Given the description of an element on the screen output the (x, y) to click on. 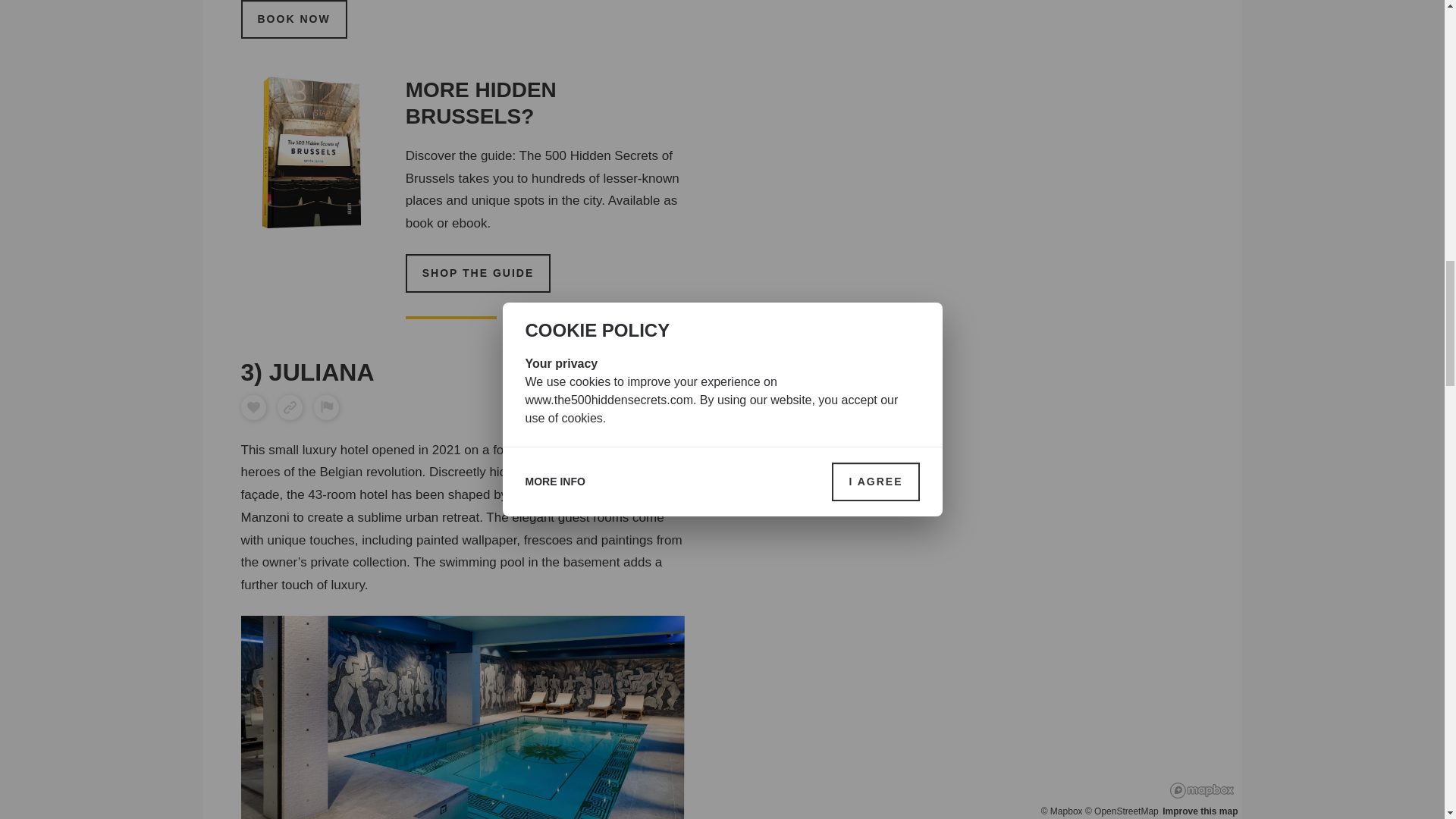
BOOK NOW (294, 19)
SHOP THE GUIDE (478, 272)
